Given the description of an element on the screen output the (x, y) to click on. 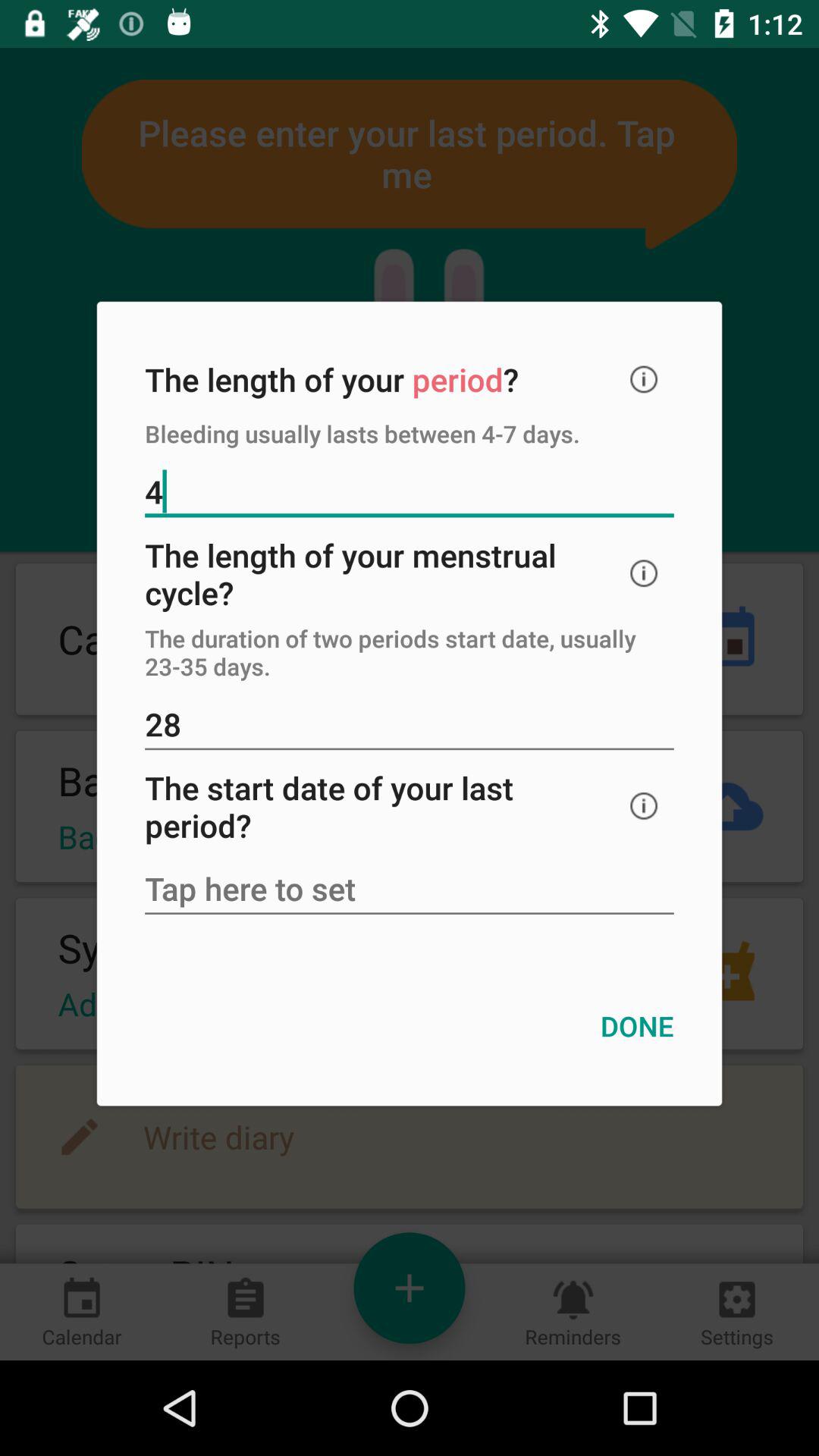
press the item below the start date (409, 890)
